Given the description of an element on the screen output the (x, y) to click on. 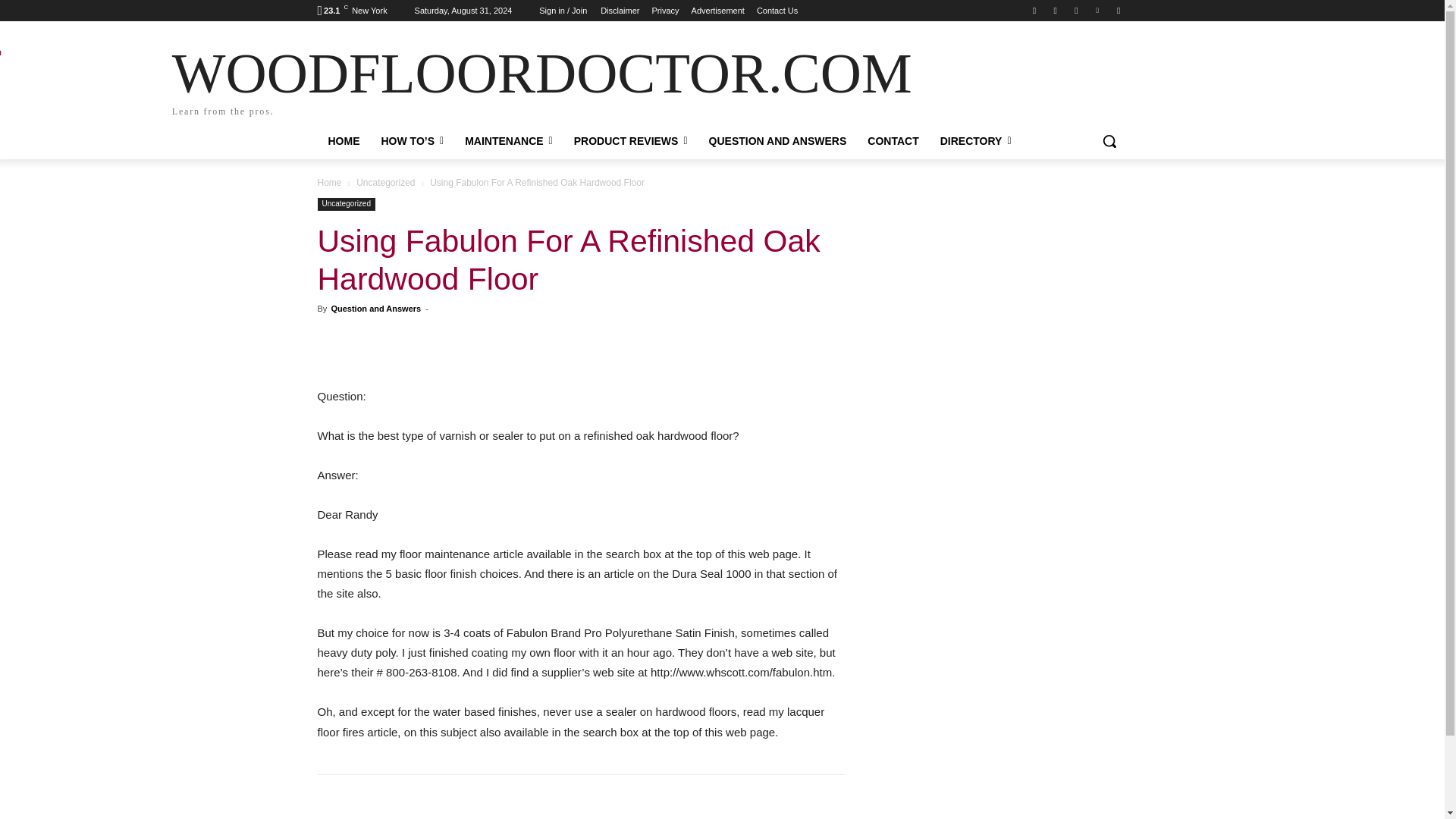
Facebook (438, 79)
Contact Us (1034, 9)
HOME (777, 10)
Vimeo (343, 140)
Disclaimer (1097, 9)
Twitter (619, 10)
Youtube (1075, 9)
Instagram (1117, 9)
Advertisement (1055, 9)
